Given the description of an element on the screen output the (x, y) to click on. 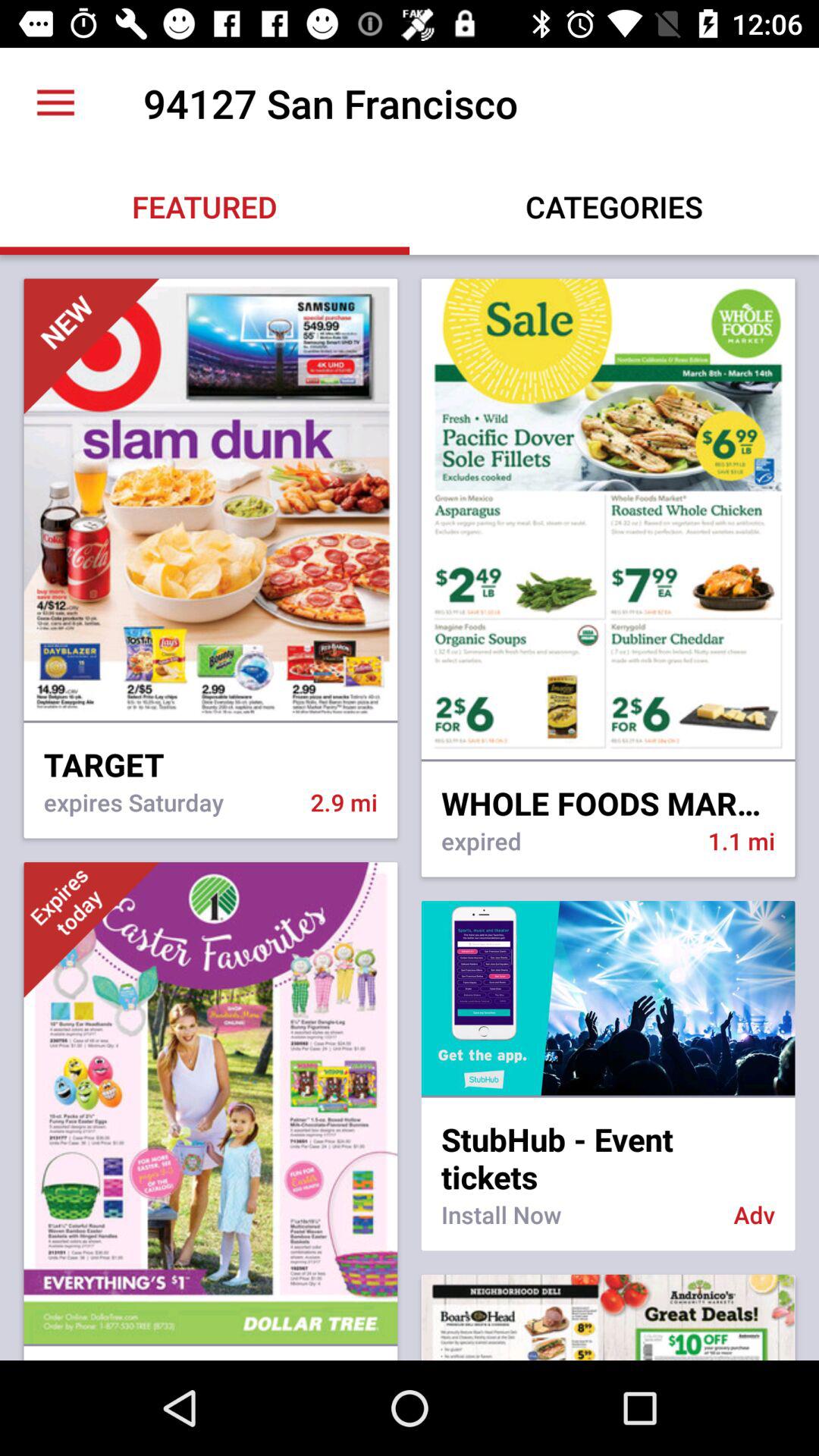
turn on item above the stubhub - event tickets icon (608, 1096)
